Given the description of an element on the screen output the (x, y) to click on. 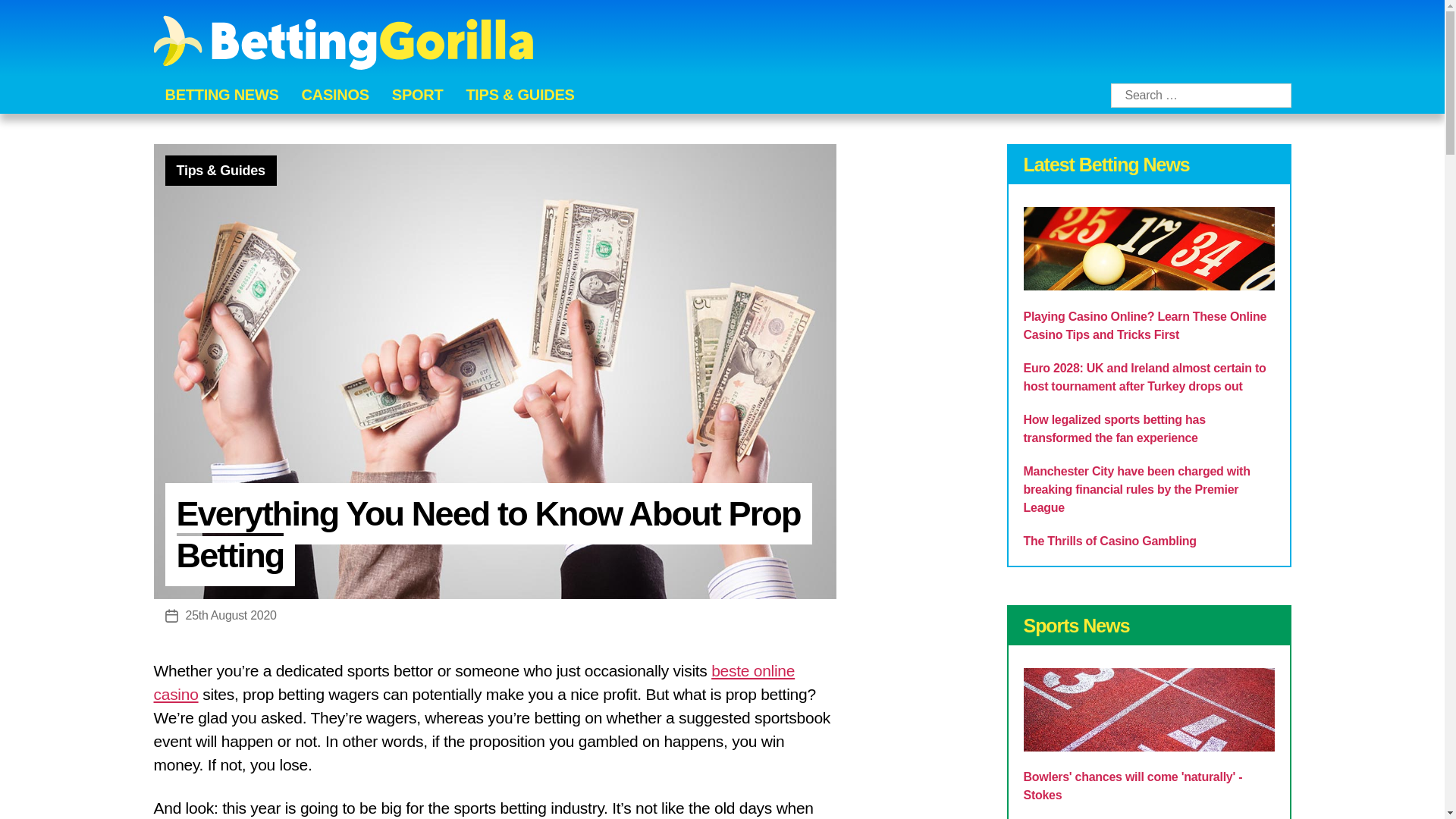
Bowlers' chances will come 'naturally' - Stokes (1133, 785)
CASINOS (335, 94)
beste online casino (473, 681)
BETTING NEWS (222, 94)
25th August 2020 (230, 615)
SPORT (417, 94)
The Thrills of Casino Gambling (1109, 540)
